Given the description of an element on the screen output the (x, y) to click on. 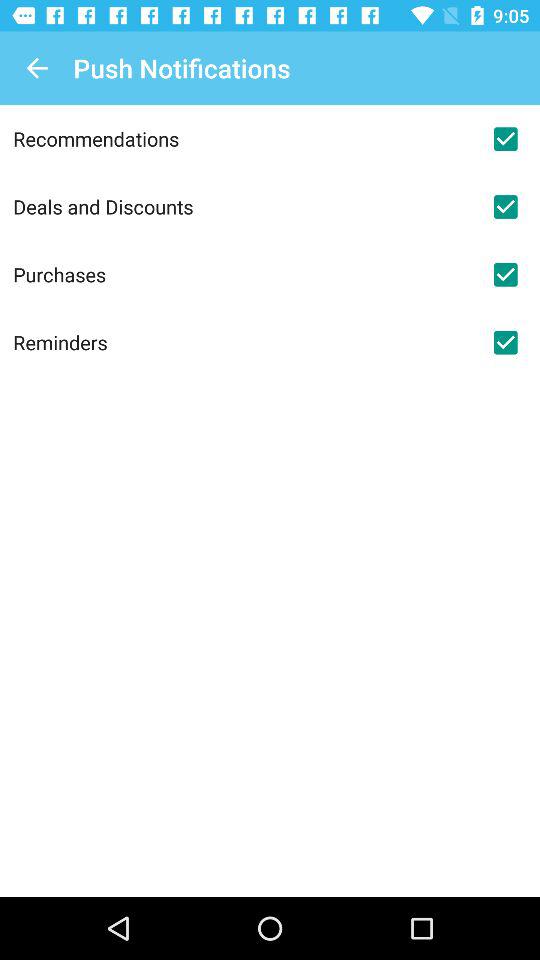
scroll to reminders icon (242, 342)
